Given the description of an element on the screen output the (x, y) to click on. 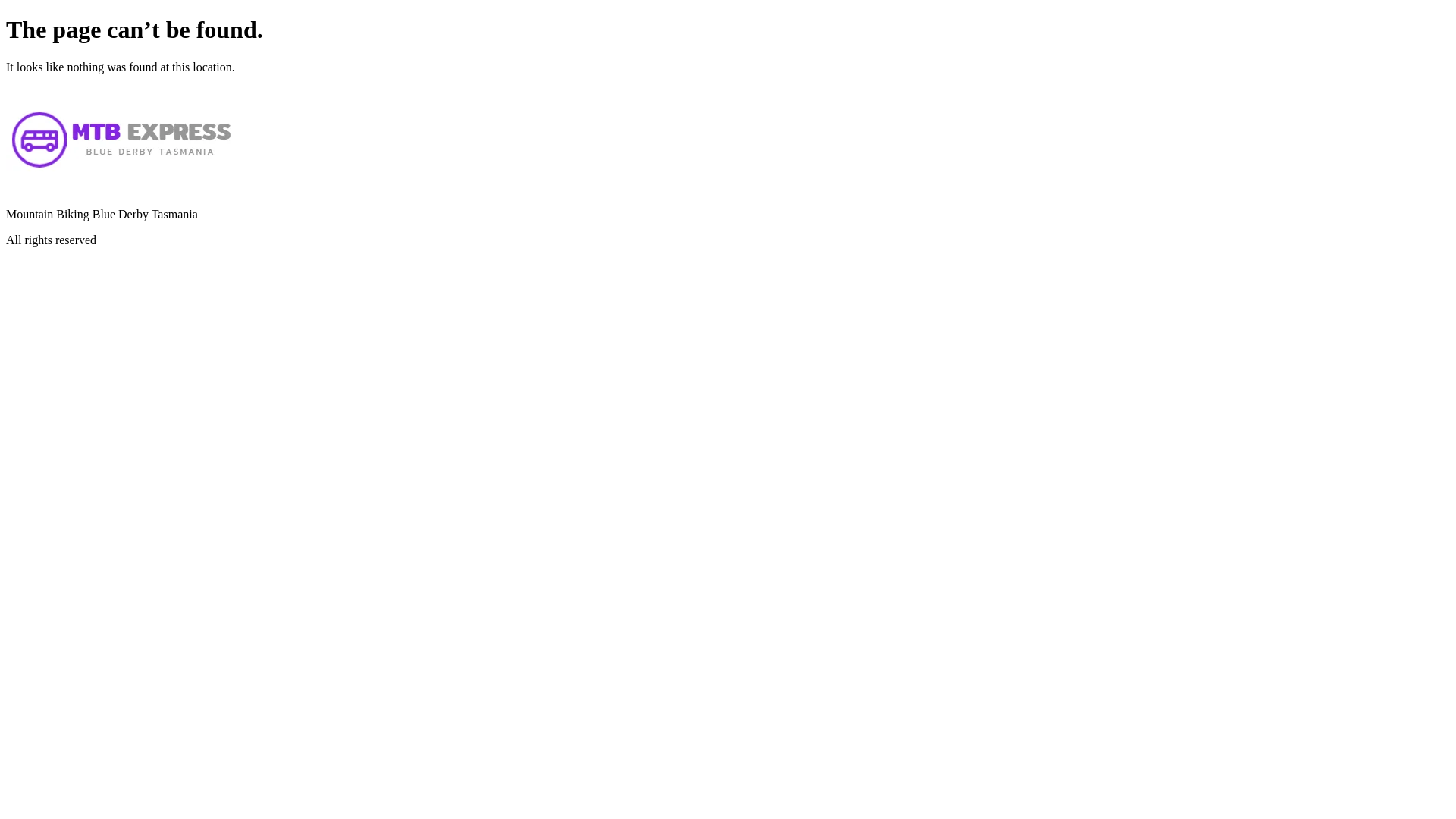
Skip to content Element type: text (5, 15)
